Given the description of an element on the screen output the (x, y) to click on. 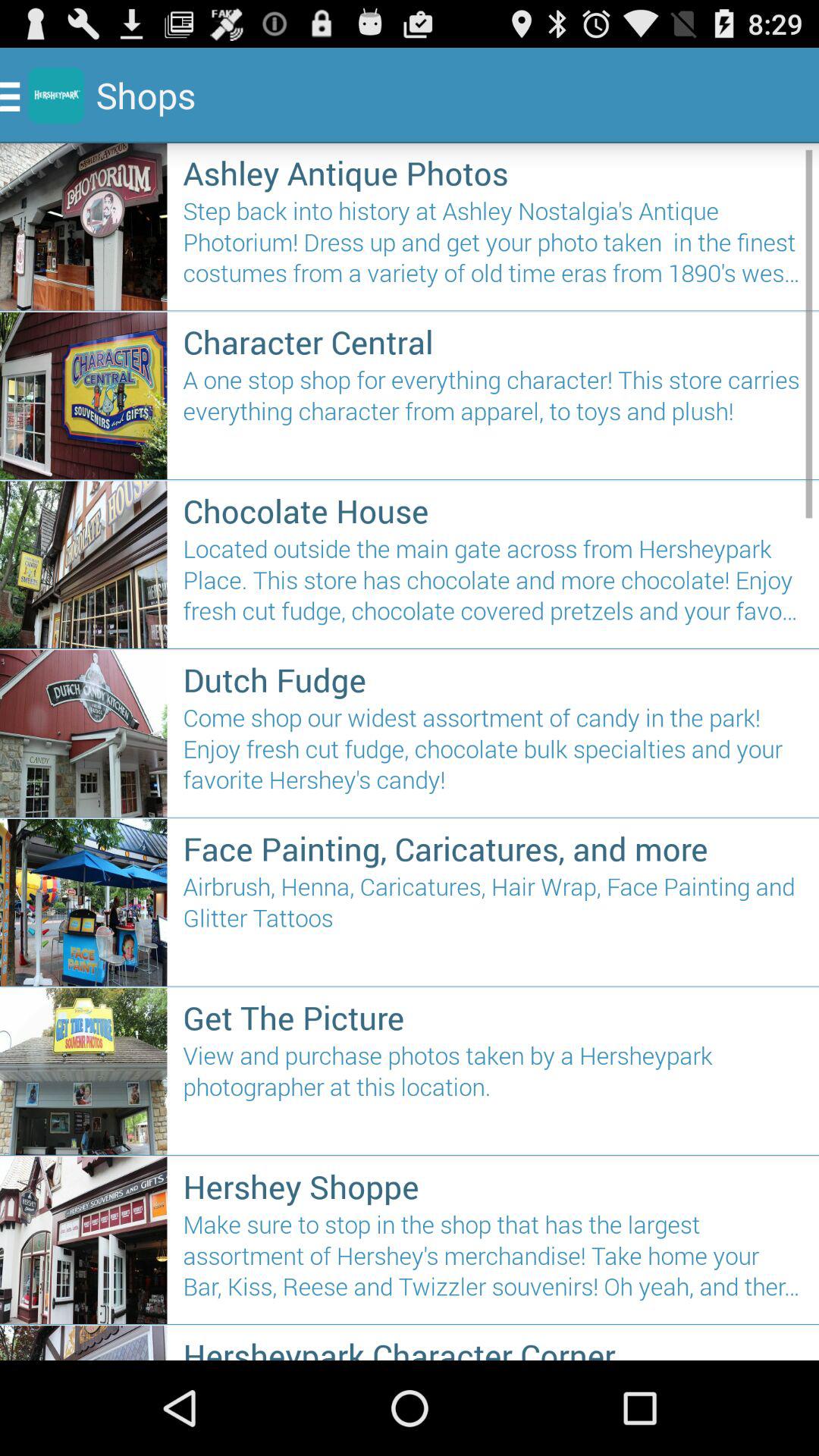
tap chocolate house icon (493, 510)
